Given the description of an element on the screen output the (x, y) to click on. 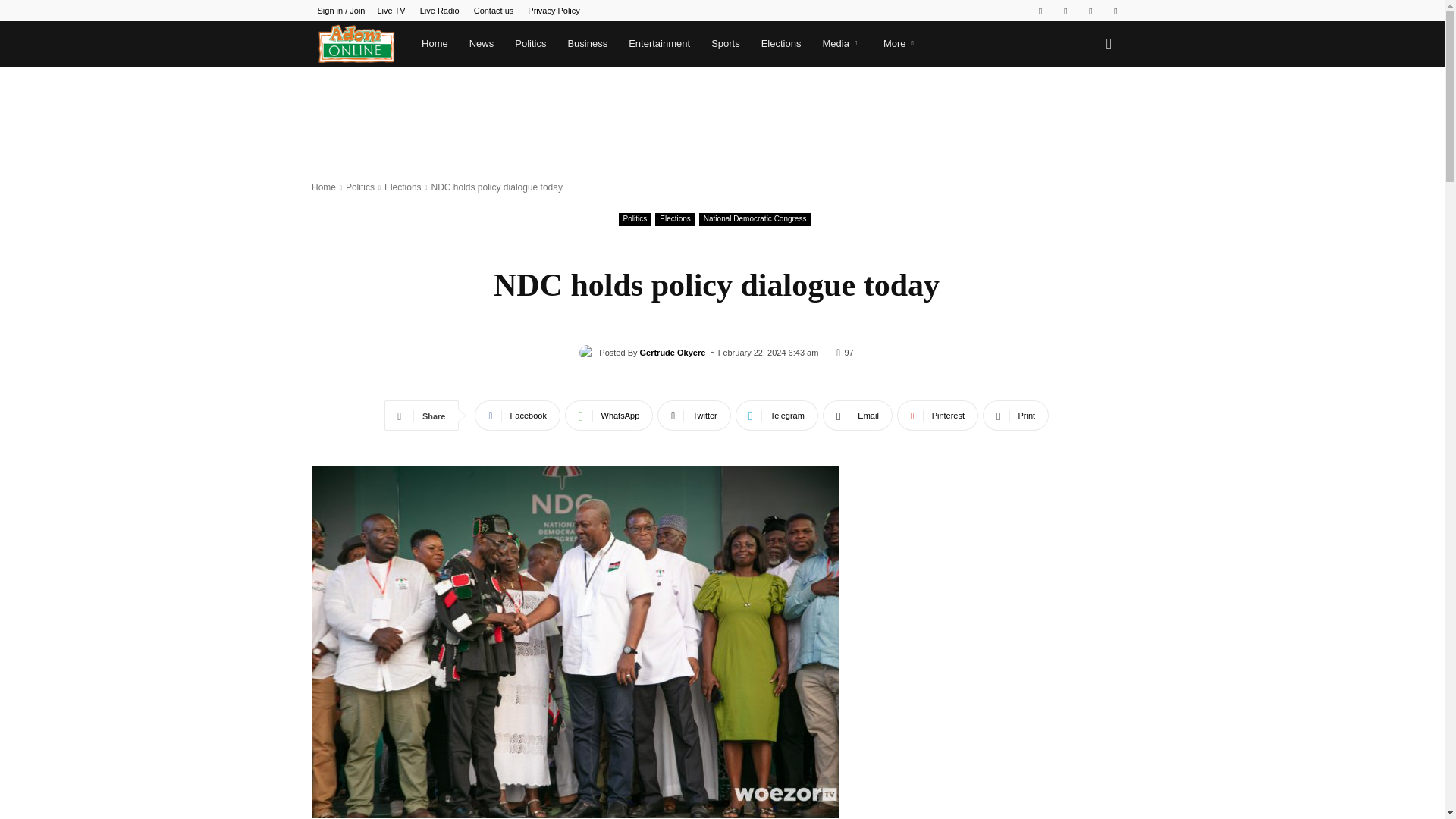
Live Radio (440, 10)
Privacy Policy (553, 10)
View all posts in Elections (403, 186)
Linkedin (1065, 10)
Adomonline Logo (356, 44)
View all posts in Politics (360, 186)
Gertrude Okyere (588, 352)
Live TV (390, 10)
Contact us (493, 10)
Twitter (1090, 10)
Youtube (1114, 10)
Facebook (1040, 10)
